Given the description of an element on the screen output the (x, y) to click on. 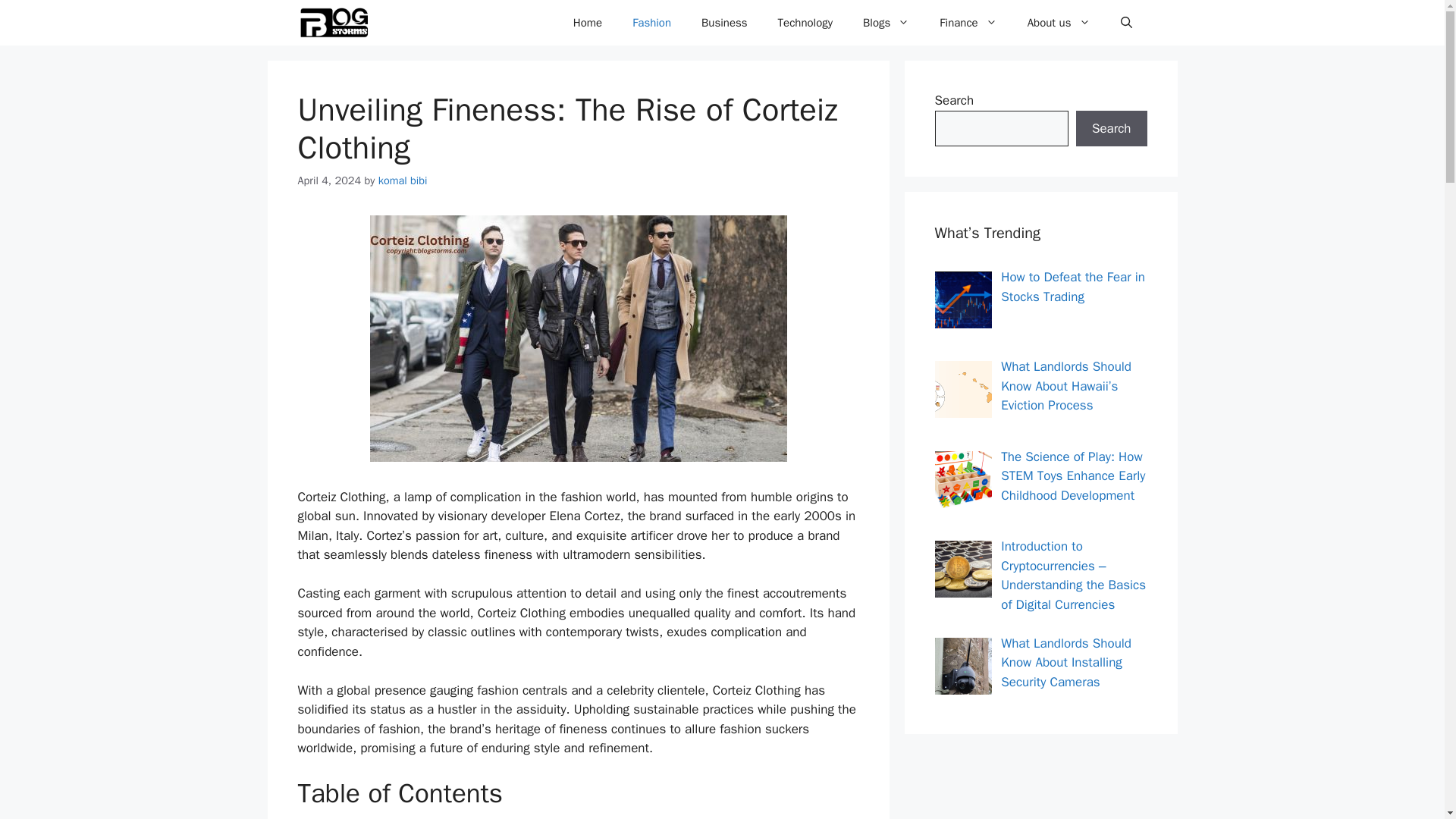
Blogs (885, 22)
Finance (967, 22)
blogstorms (333, 22)
About us (1058, 22)
Home (587, 22)
Technology (805, 22)
Business (723, 22)
Fashion (651, 22)
View all posts by komal bibi (403, 180)
komal bibi (403, 180)
